Given the description of an element on the screen output the (x, y) to click on. 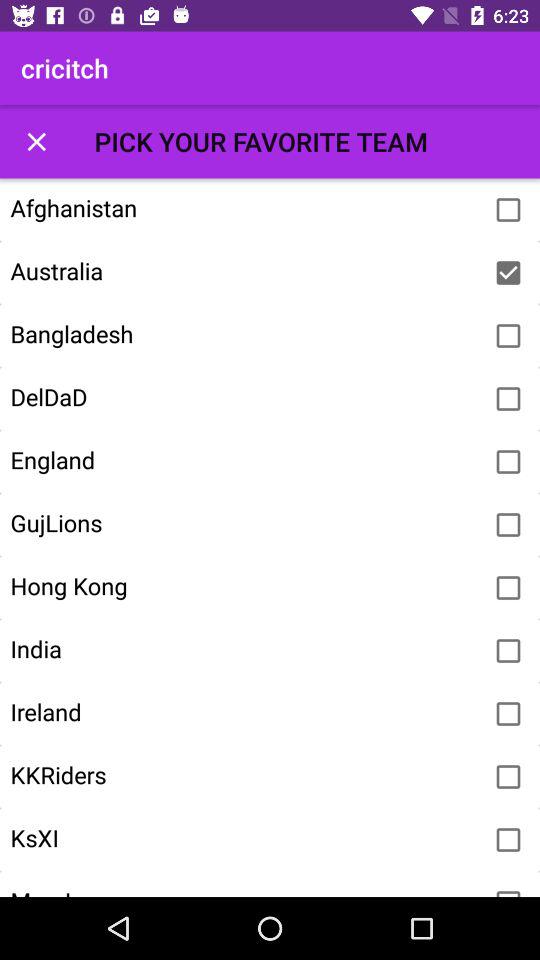
select the item above the afghanistan icon (36, 141)
